Given the description of an element on the screen output the (x, y) to click on. 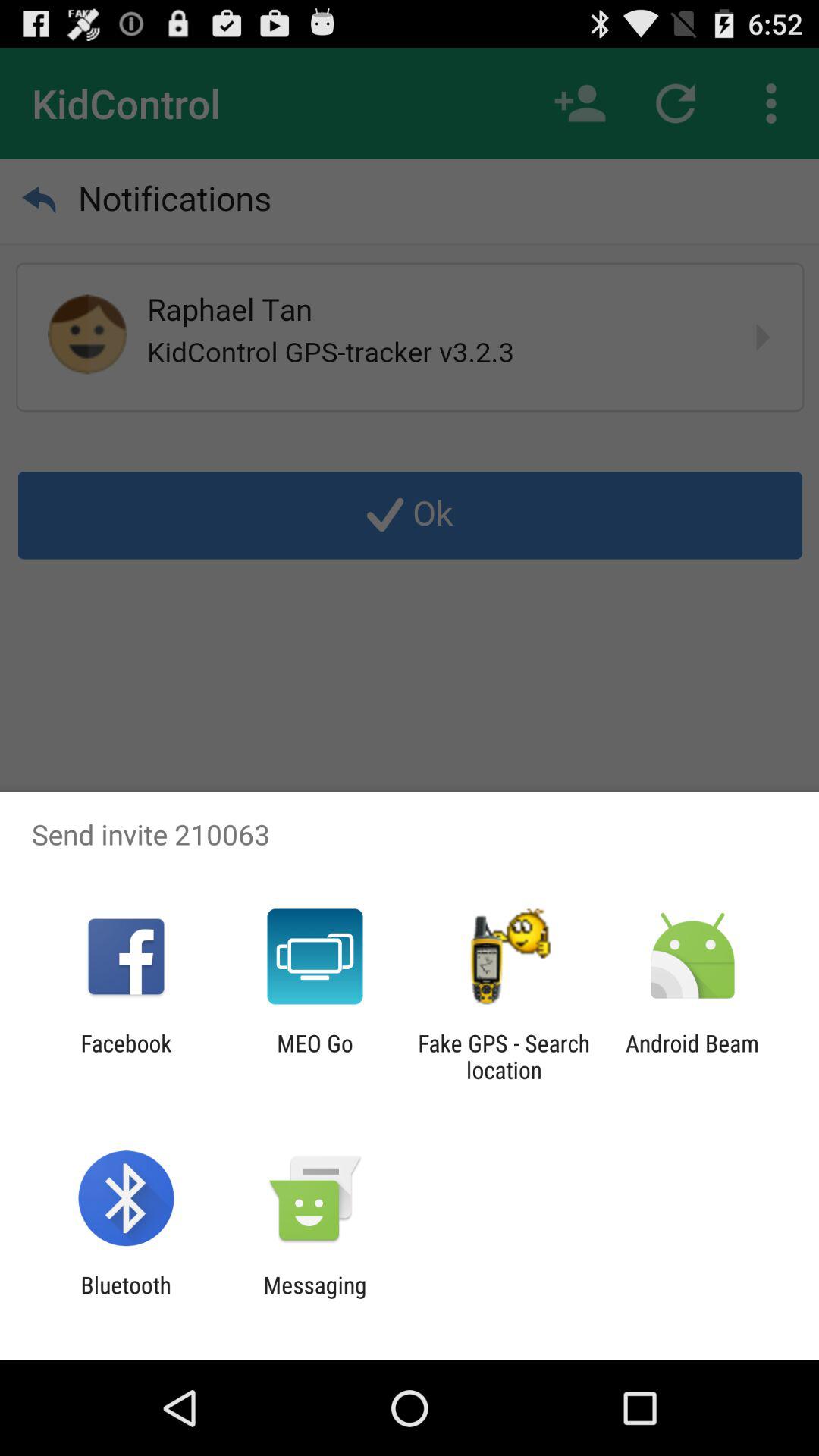
turn off the app to the right of meo go item (503, 1056)
